Given the description of an element on the screen output the (x, y) to click on. 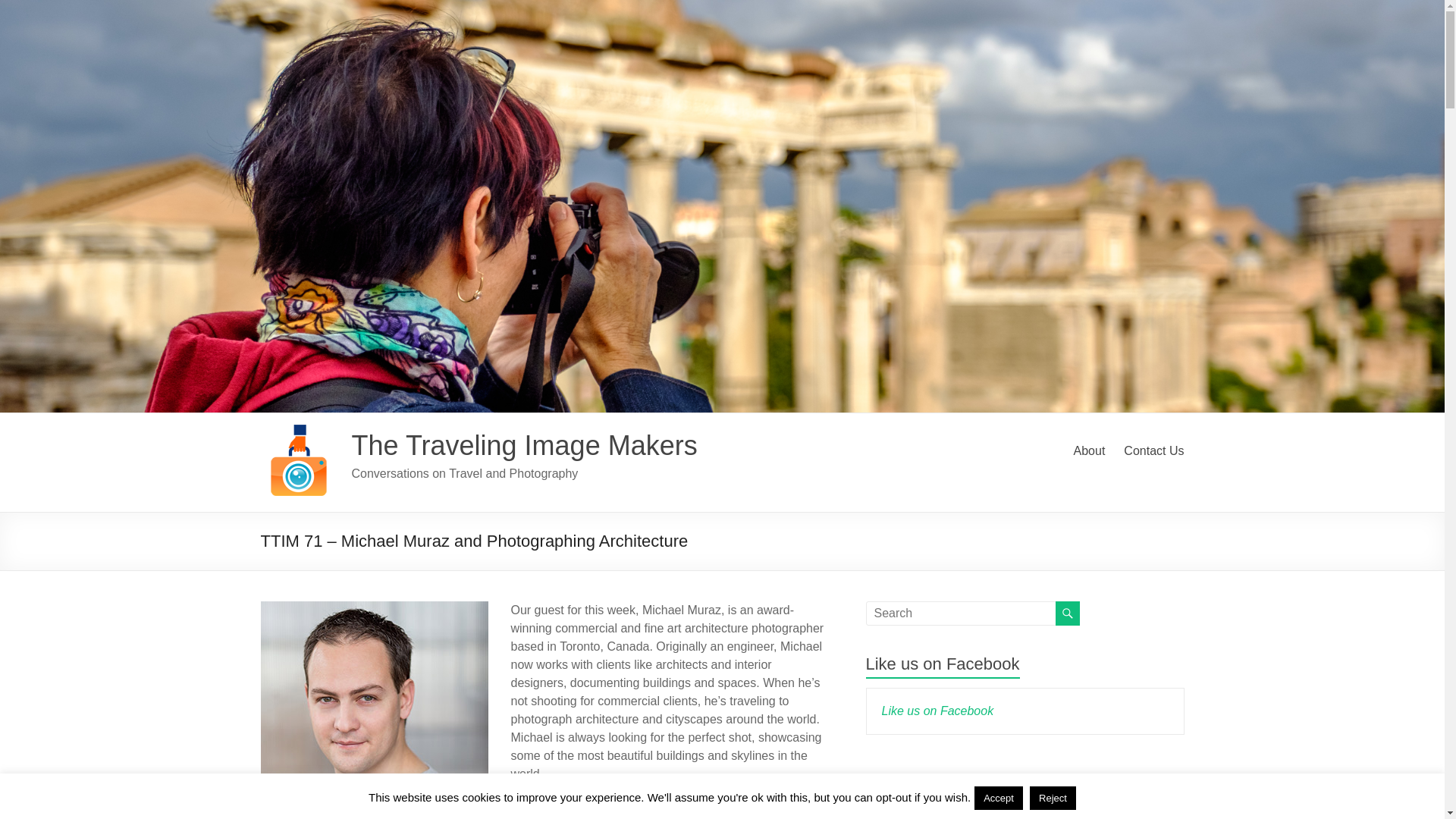
About (1089, 450)
Contact Us (1153, 450)
The Traveling Image Makers (524, 445)
The Traveling Image Makers (524, 445)
